Given the description of an element on the screen output the (x, y) to click on. 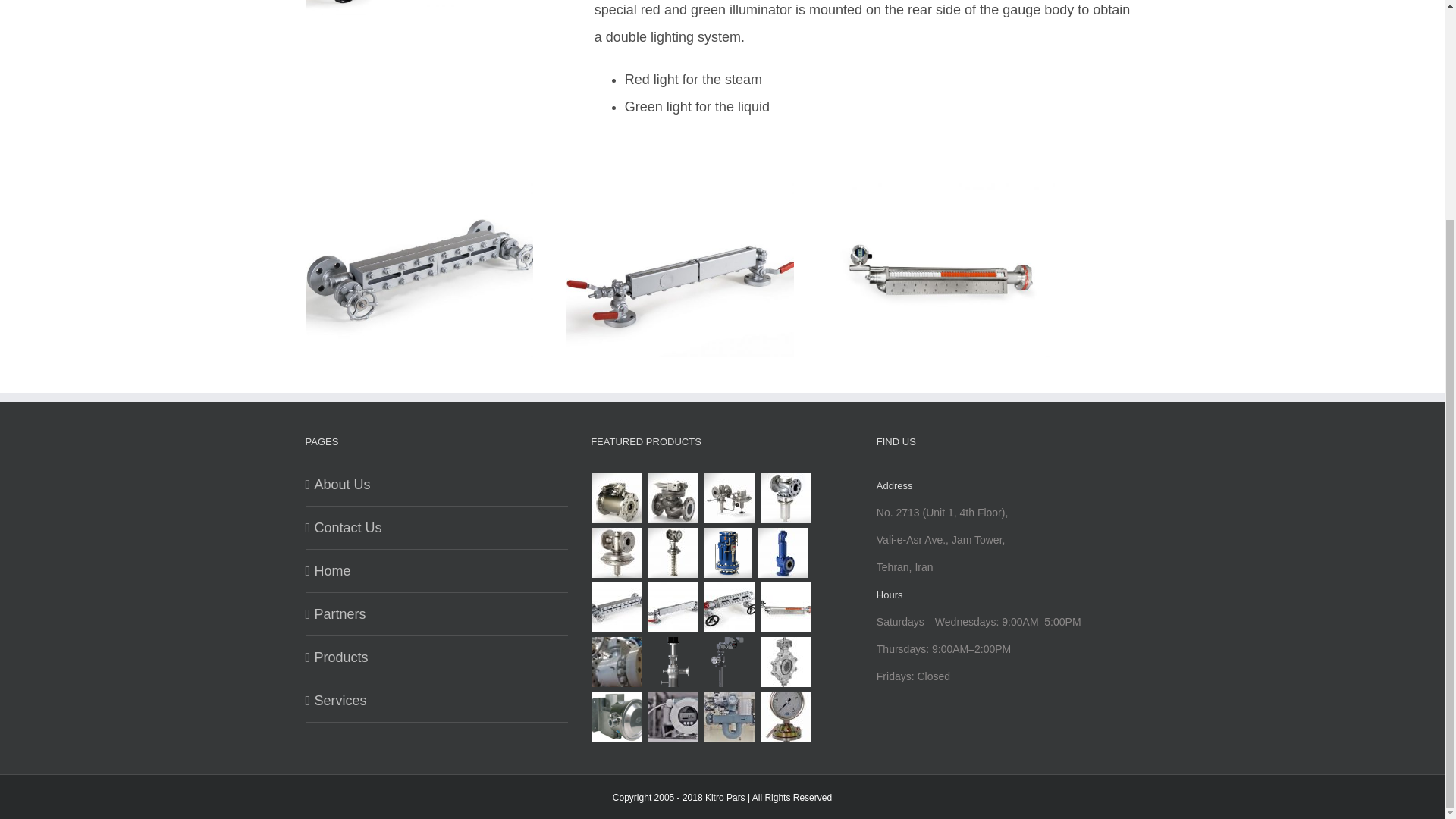
Pressure Safety Valve (783, 552)
Transparent Level Gauges (617, 606)
BI-COLOUR LEVEL GAUGES (380, 7)
Bi-Colour Level Gauges (729, 606)
Magnetic Level Gauge (784, 606)
Pressure Reducing Valve for Liquids and Gases (784, 497)
Pilot-operated Millibar Control Valve (729, 497)
Reflex Level Gauges (672, 606)
Ball Valves (617, 661)
Millibar Control Valve for High Flow Rates (617, 552)
Pilot-operated Backpressure Regulator (672, 497)
Surge Relief Valve (727, 552)
Pilot-operated Pressure Reducing Valve (617, 497)
Back Pressure Regulator Valve (672, 552)
